Given the description of an element on the screen output the (x, y) to click on. 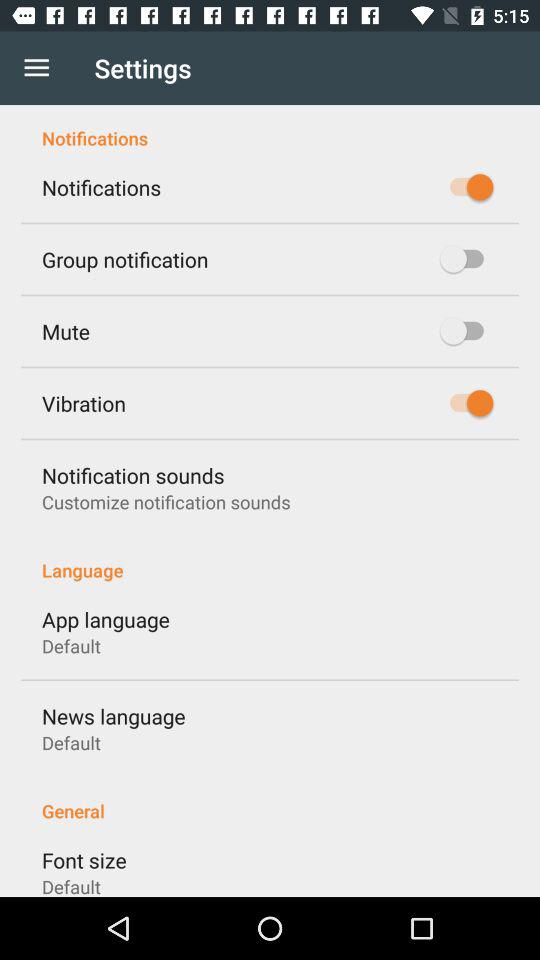
launch the icon below the group notification item (66, 331)
